Given the description of an element on the screen output the (x, y) to click on. 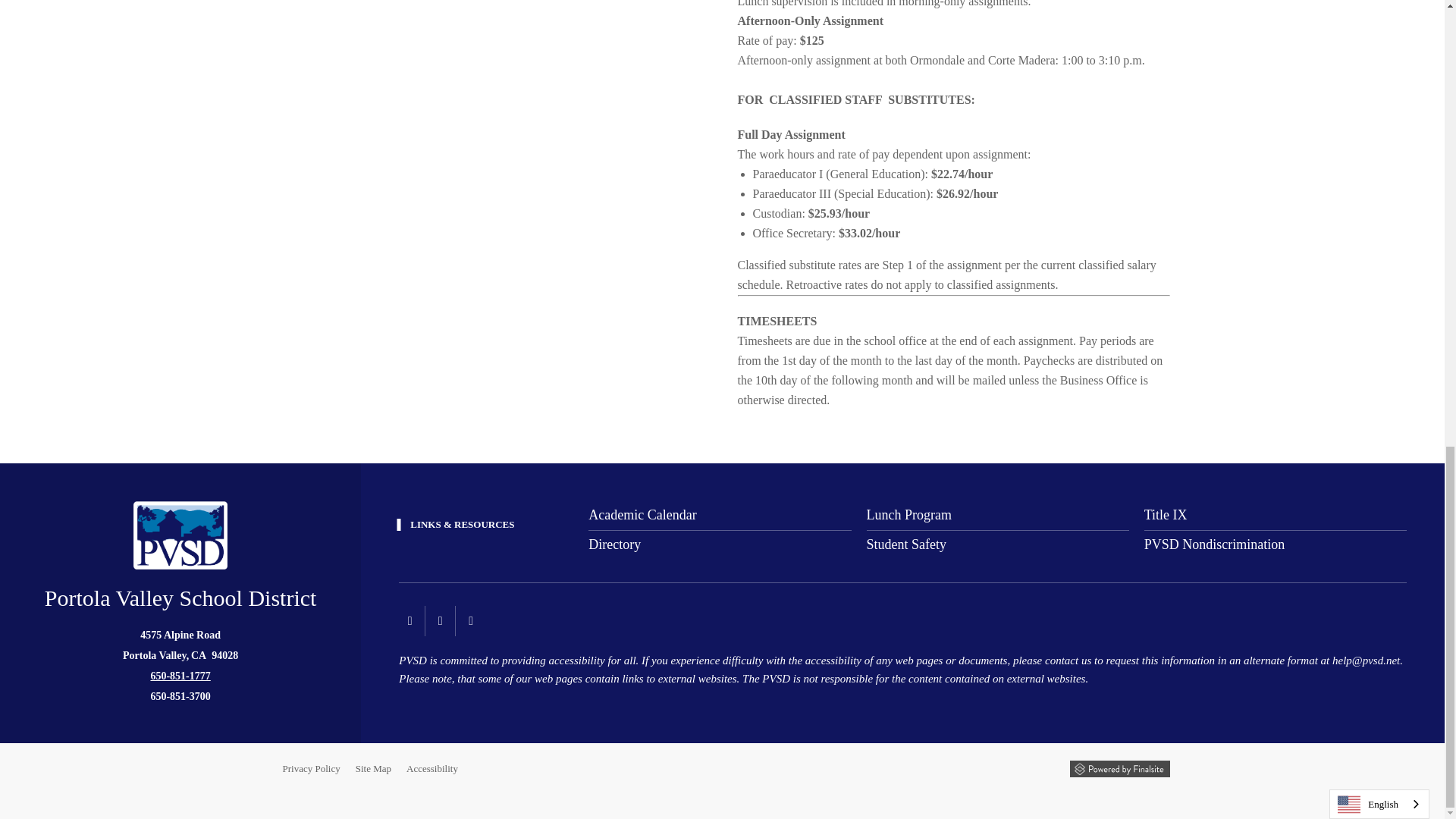
Powered by Finalsite opens in a new window (1118, 768)
